Given the description of an element on the screen output the (x, y) to click on. 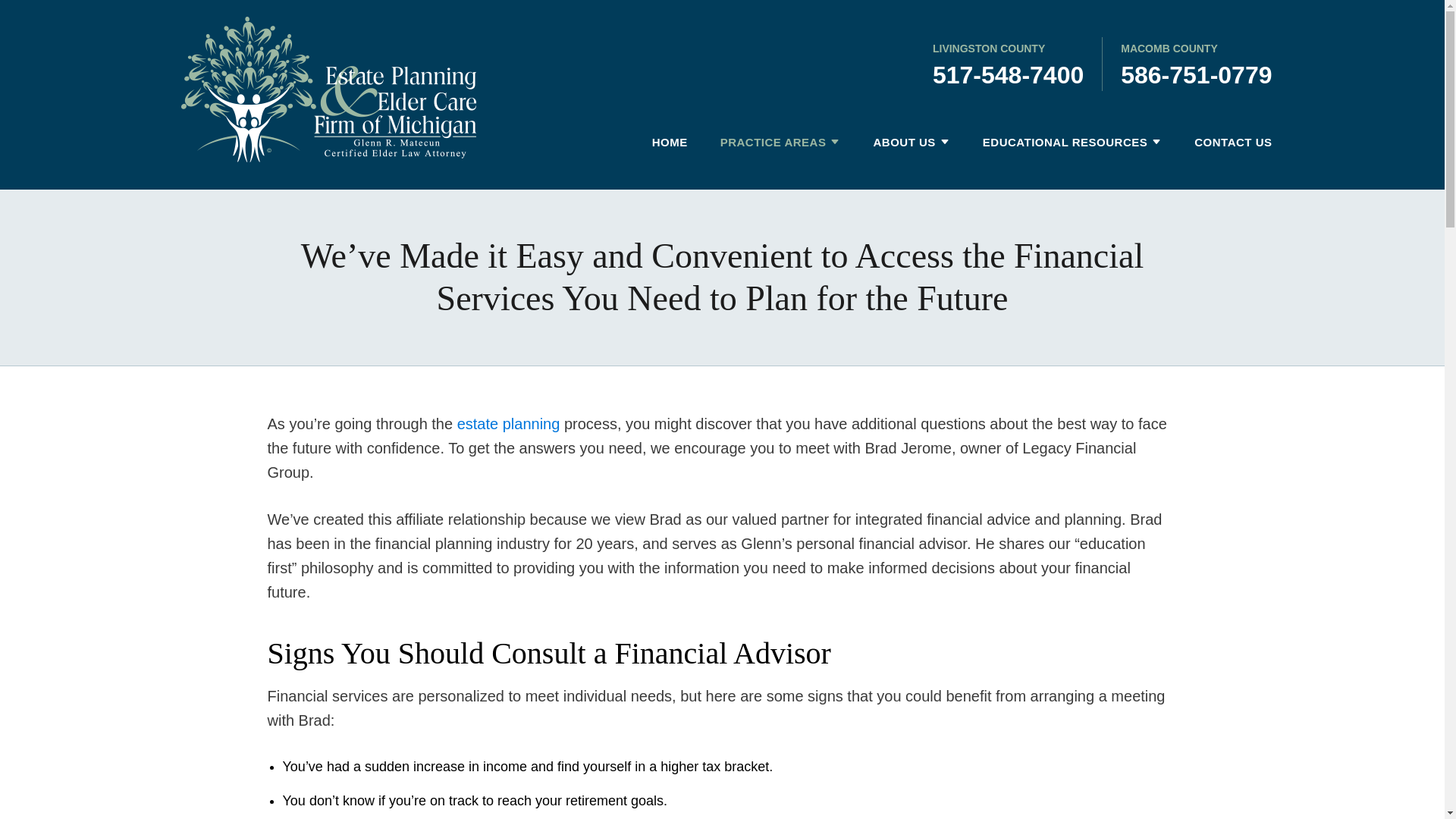
HOME (662, 142)
517-548-7400 (1008, 74)
PRACTICE AREAS (765, 142)
call local (1008, 74)
CONTACT US (1225, 142)
ABOUT US (895, 142)
estate planning (508, 423)
EDUCATIONAL RESOURCES (1057, 142)
586-751-0779 (1196, 74)
call local (1196, 74)
